Given the description of an element on the screen output the (x, y) to click on. 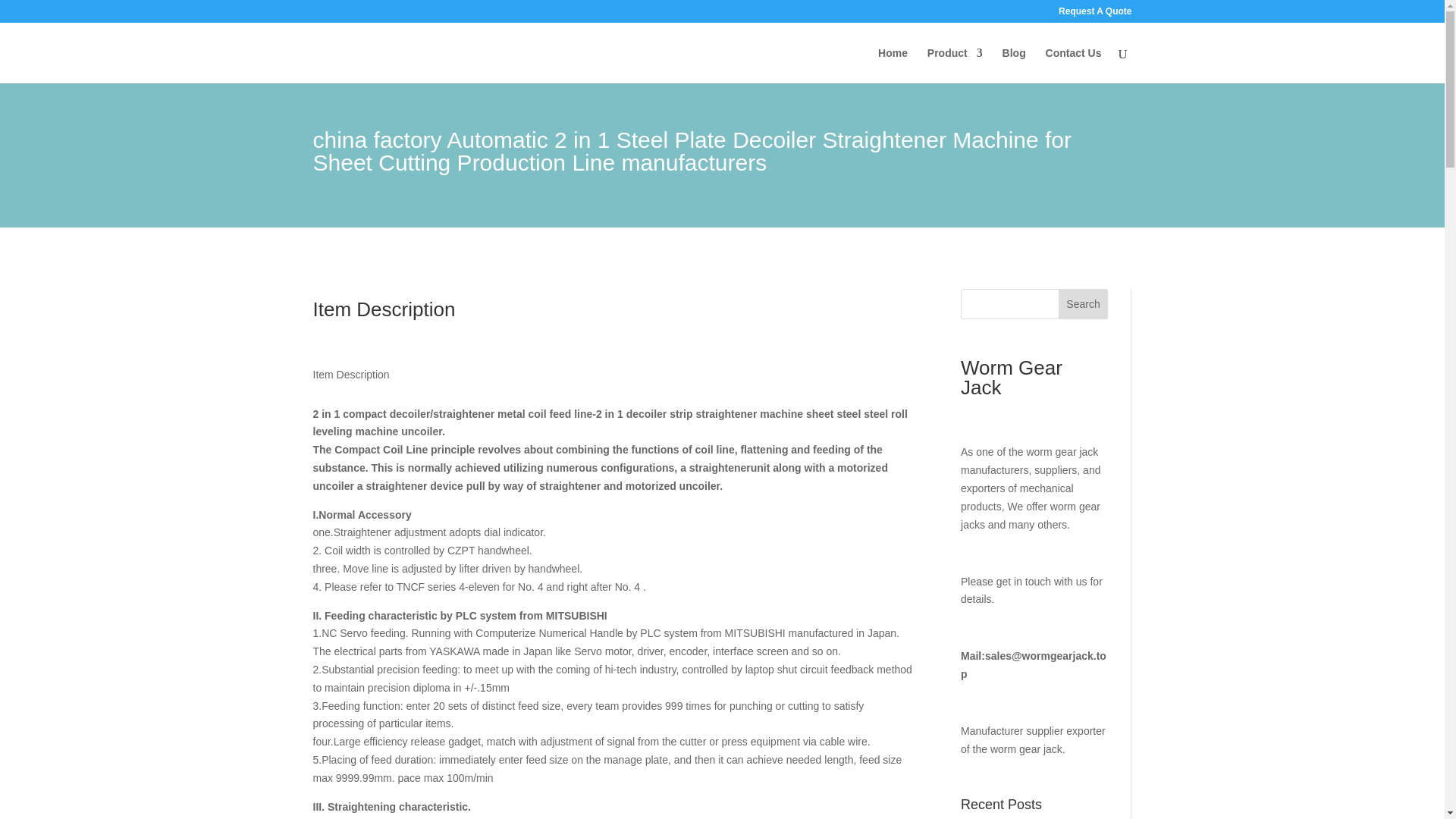
Contact Us (1073, 65)
Request A Quote (1094, 14)
Search (1083, 304)
Product (954, 65)
Search (1083, 304)
